Given the description of an element on the screen output the (x, y) to click on. 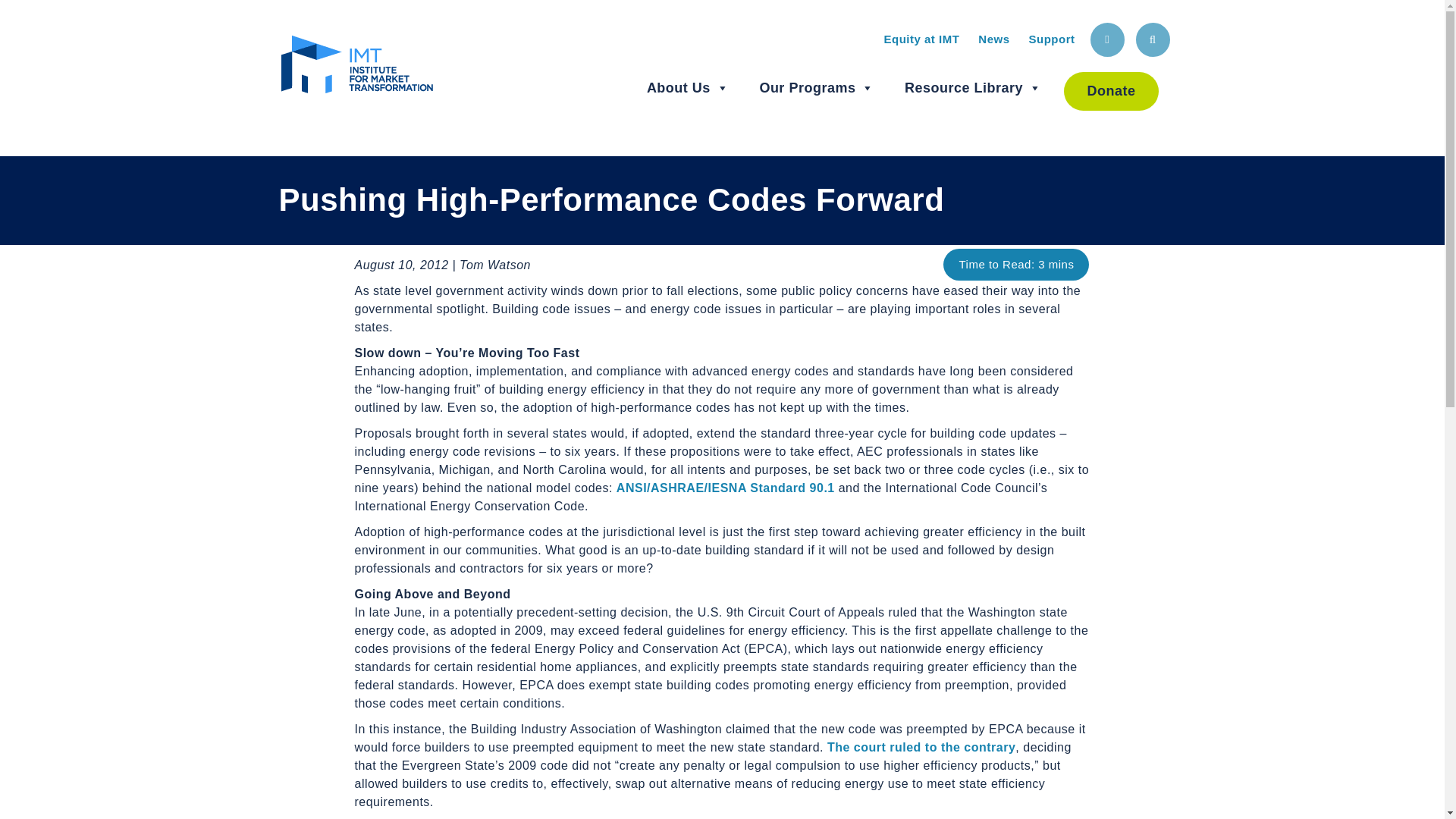
Resource Library (972, 87)
About Us (687, 87)
Our Programs (816, 87)
News (993, 39)
Search (1152, 39)
Equity at IMT (920, 39)
Support (1051, 39)
